Given the description of an element on the screen output the (x, y) to click on. 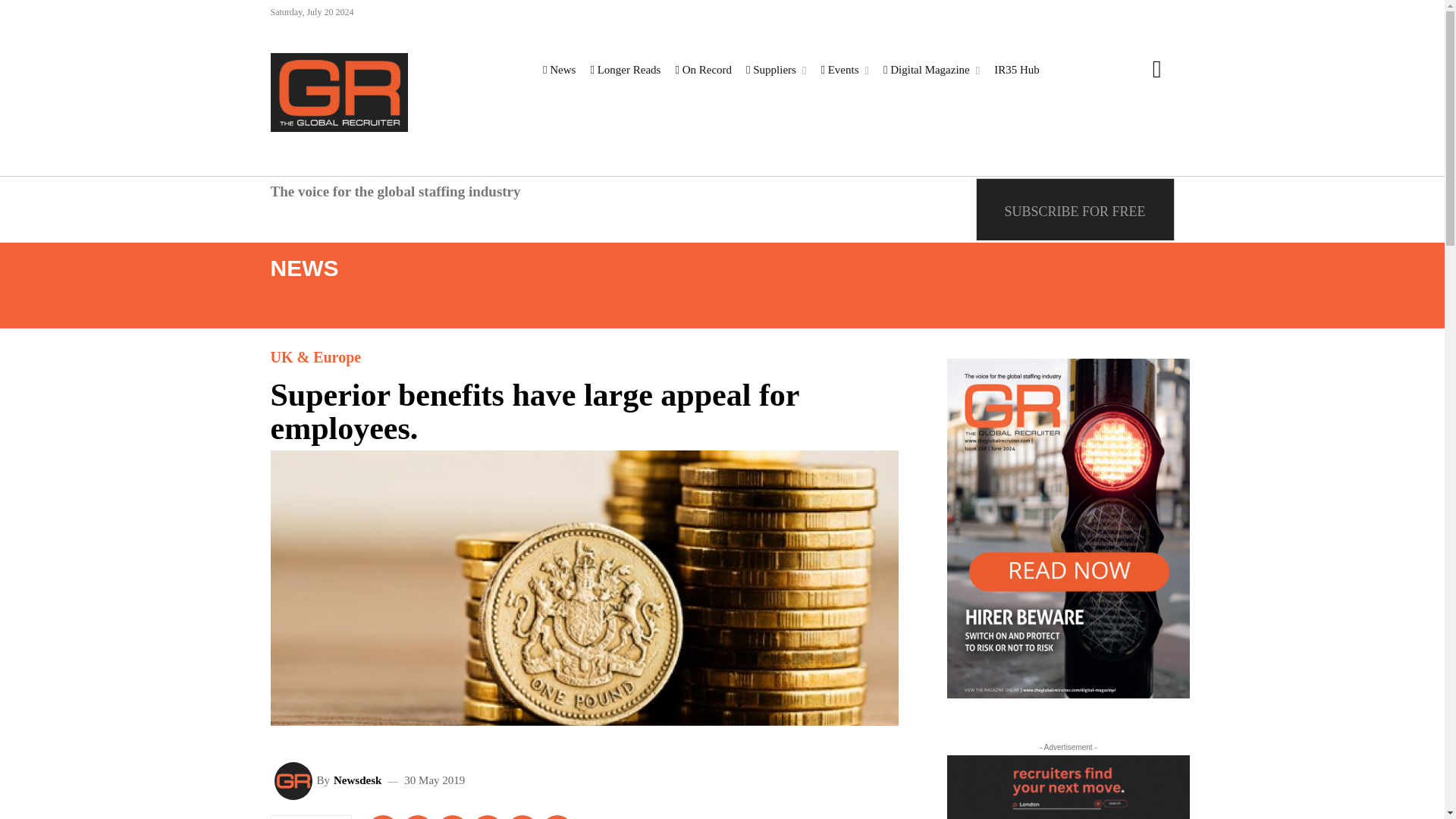
Newsdesk (296, 781)
On Record (703, 69)
Digital Magazine (931, 69)
Longer Reads (624, 69)
News (559, 69)
Suppliers (775, 69)
Linkedin (382, 816)
Events (844, 69)
The Global Recruiter (338, 92)
Subscribe for FREE (1074, 209)
